Given the description of an element on the screen output the (x, y) to click on. 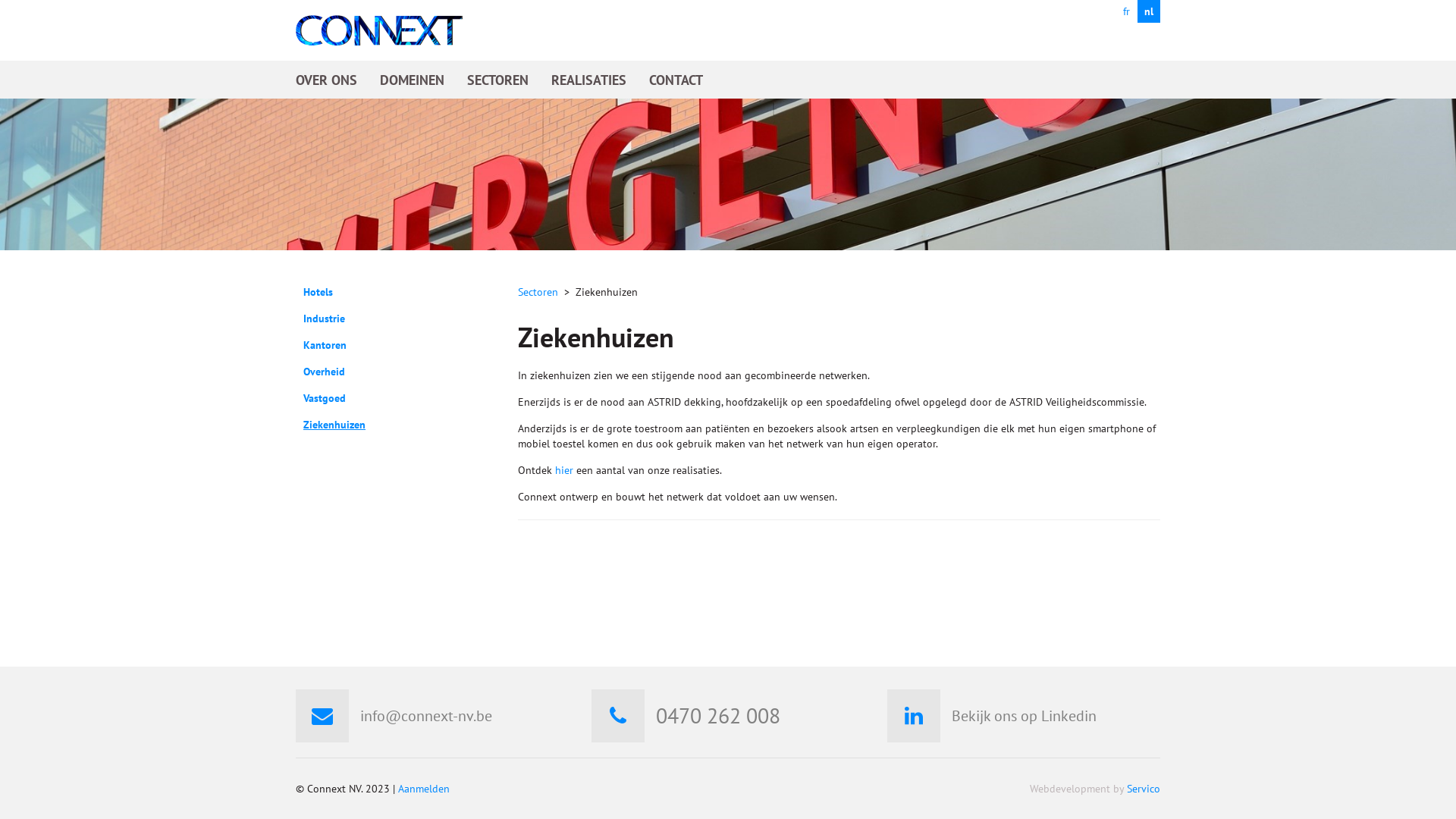
Bekijk ons op Linkedin Element type: text (1023, 715)
REALISATIES Element type: text (588, 79)
Industrie Element type: text (324, 318)
Hotels Element type: text (317, 291)
Ziekenhuizen Element type: text (334, 424)
0470 262 008 Element type: text (717, 715)
CONTACT Element type: text (675, 79)
Kantoren Element type: text (324, 344)
hier Element type: text (564, 469)
Aanmelden Element type: text (423, 788)
nl Element type: text (1148, 11)
fr Element type: text (1125, 11)
OVER ONS Element type: text (326, 79)
SECTOREN Element type: text (497, 79)
Sectoren Element type: text (537, 291)
info@connext-nv.be Element type: text (426, 715)
Servico Element type: text (1143, 788)
DOMEINEN Element type: text (411, 79)
Overheid Element type: text (324, 371)
Vastgoed Element type: text (324, 397)
